Given the description of an element on the screen output the (x, y) to click on. 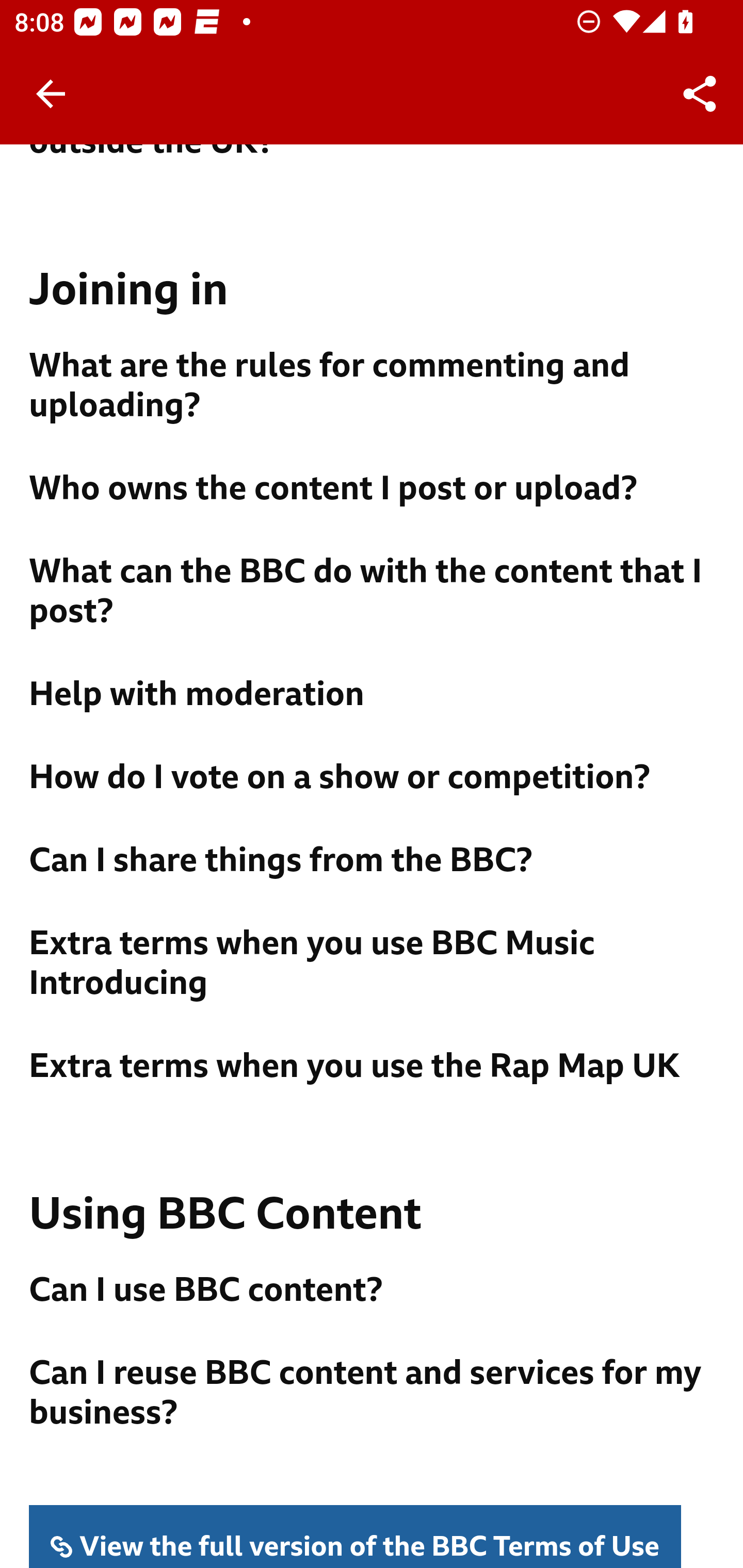
Back (50, 93)
Share (699, 93)
What are the rules for commenting and uploading? (372, 387)
Who owns the content I post or upload? (372, 489)
What can the BBC do with the content that I post? (372, 592)
Help with moderation (372, 695)
How do I vote on a show or competition? (372, 778)
Can I share things from the BBC? (372, 862)
Extra terms when you use BBC Music Introducing (372, 964)
Extra terms when you use the Rap Map UK (372, 1067)
Can I use BBC content? (372, 1291)
View the full version of the BBC Terms of Use (355, 1536)
